Given the description of an element on the screen output the (x, y) to click on. 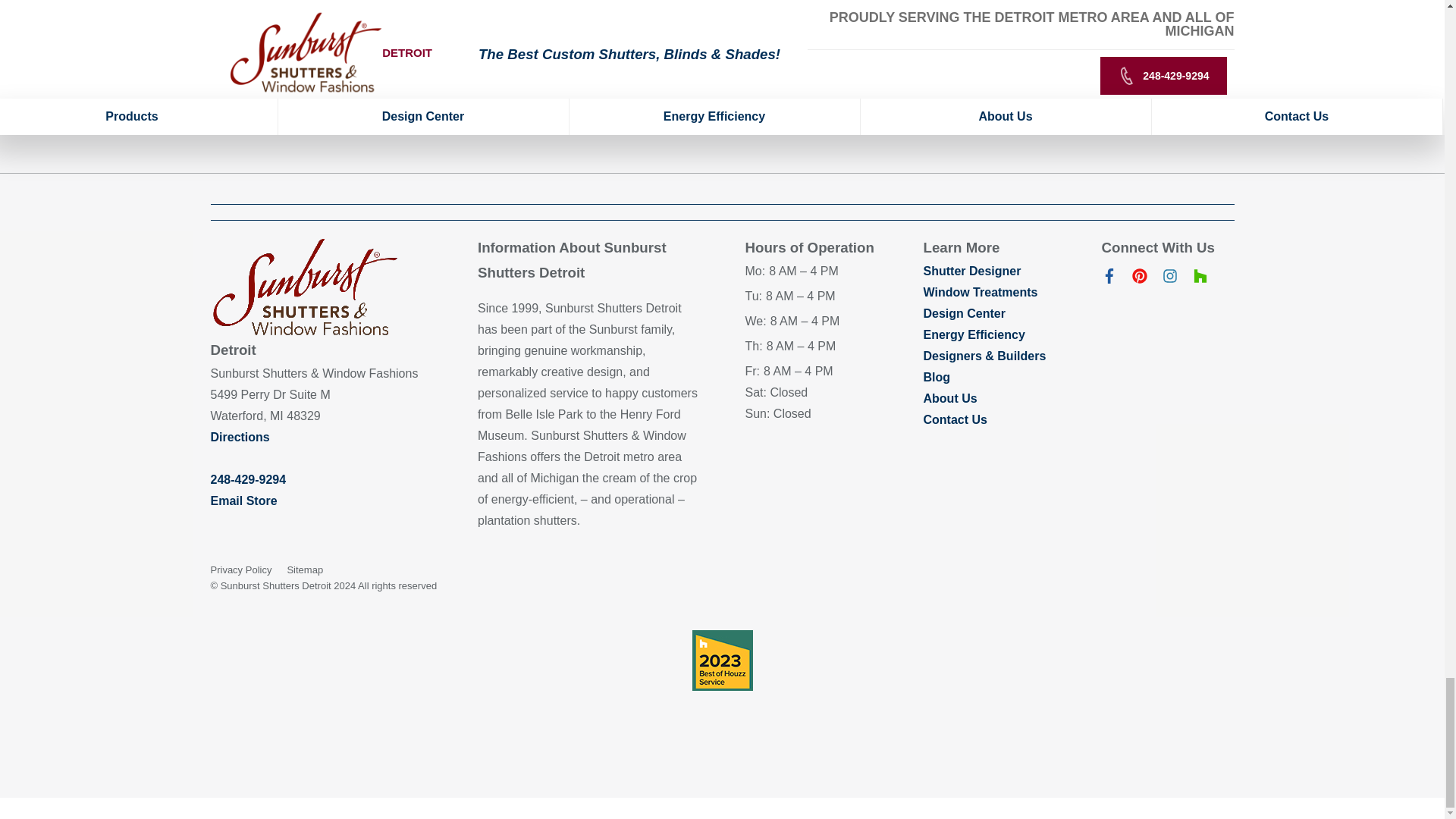
Save us on Houzz (1199, 278)
Like us on Facebook (1108, 278)
Best Of Houzz 2024 (721, 660)
Follow us on Pinterest (1139, 278)
Follow us on Instagram (1168, 278)
